Given the description of an element on the screen output the (x, y) to click on. 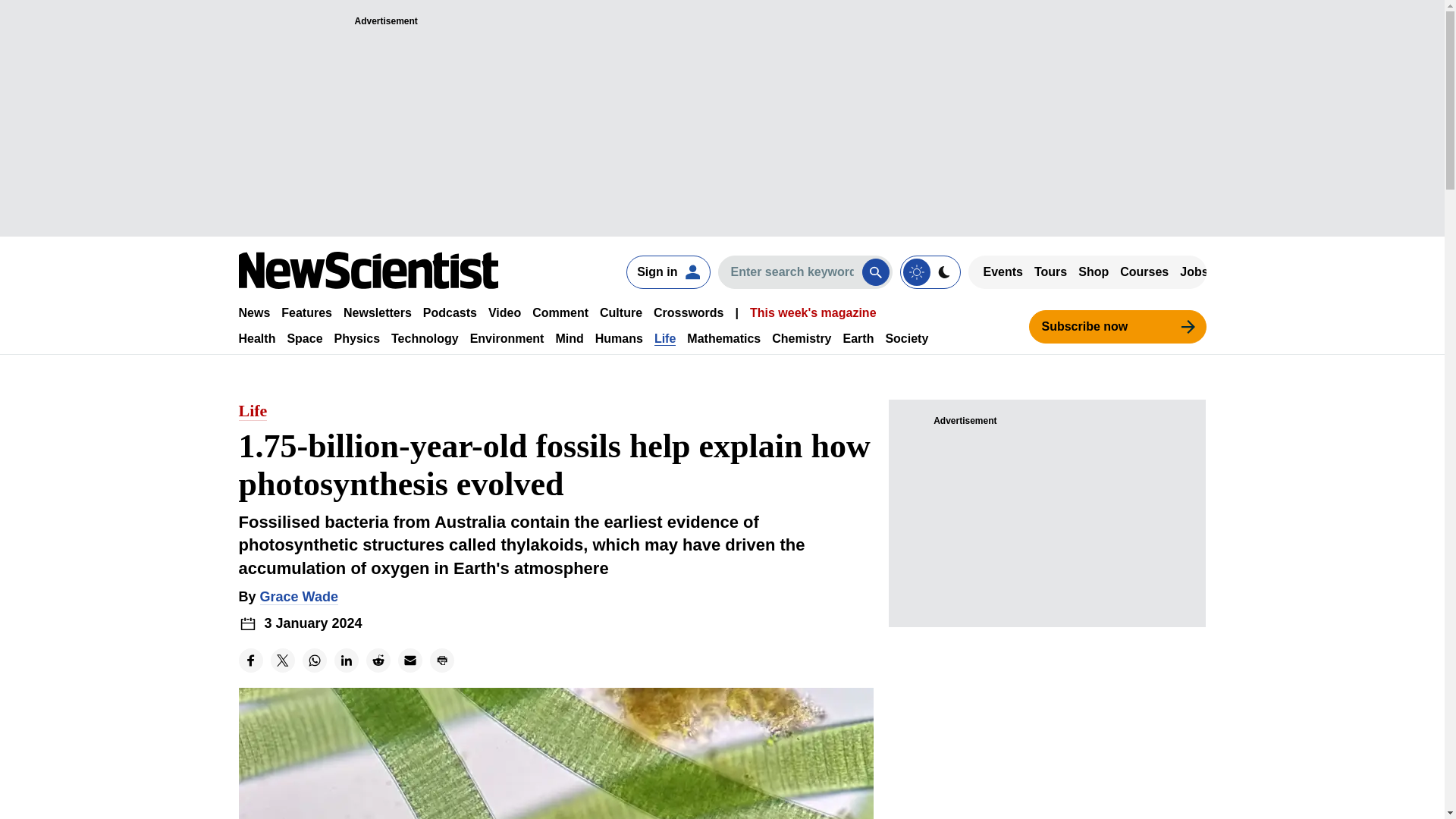
News (253, 313)
Humans (619, 338)
Events (1002, 272)
Sign In page link (668, 272)
Podcasts (450, 313)
Earth (859, 338)
Life (664, 338)
Shop (1093, 272)
Crosswords (688, 313)
Technology (424, 338)
Jobs (1193, 272)
Health (256, 338)
on (929, 272)
Video (504, 313)
Physics (357, 338)
